Given the description of an element on the screen output the (x, y) to click on. 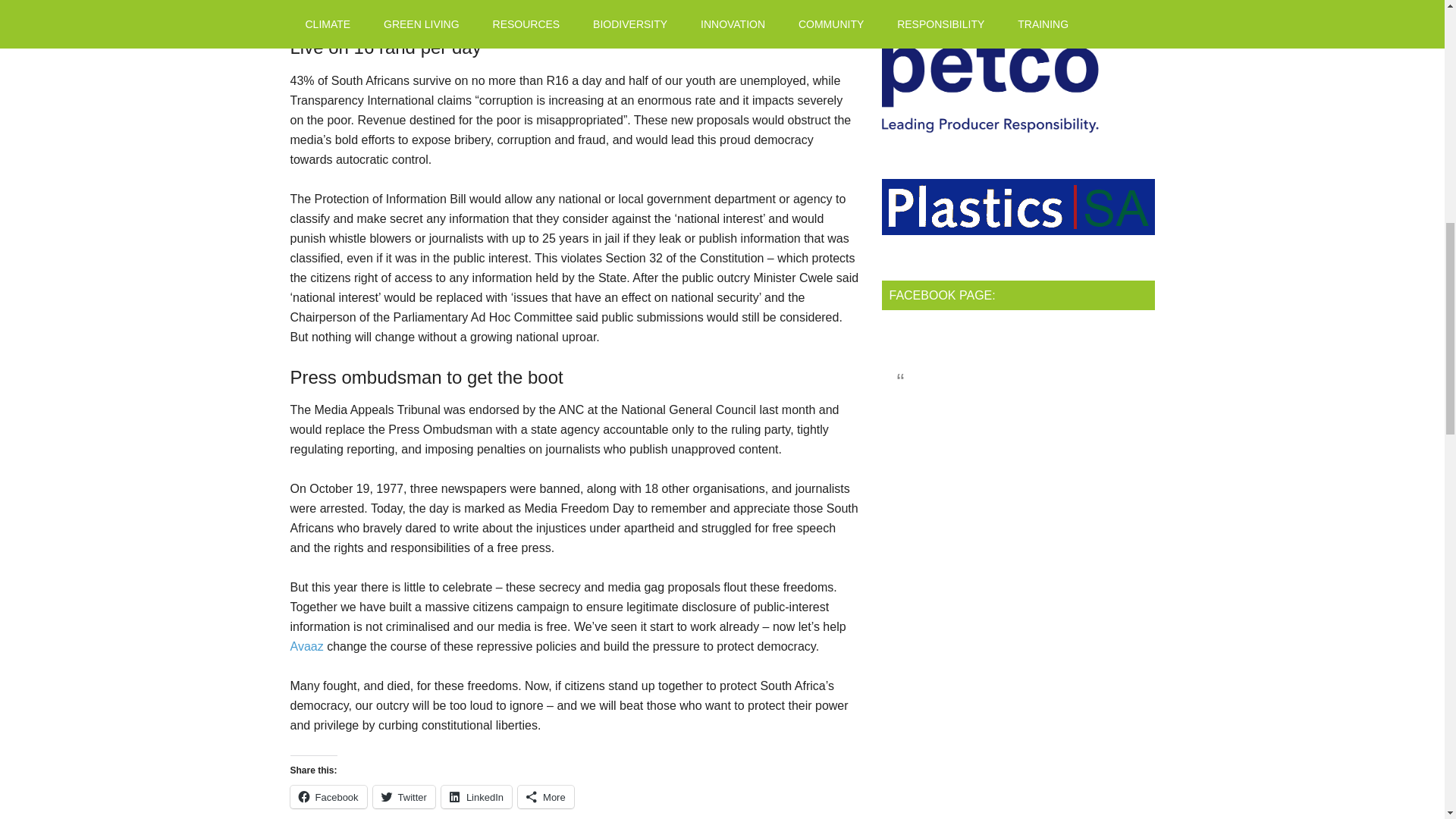
Click to share on LinkedIn (476, 796)
Click to share on Facebook (327, 796)
Click to share on Twitter (403, 796)
